Given the description of an element on the screen output the (x, y) to click on. 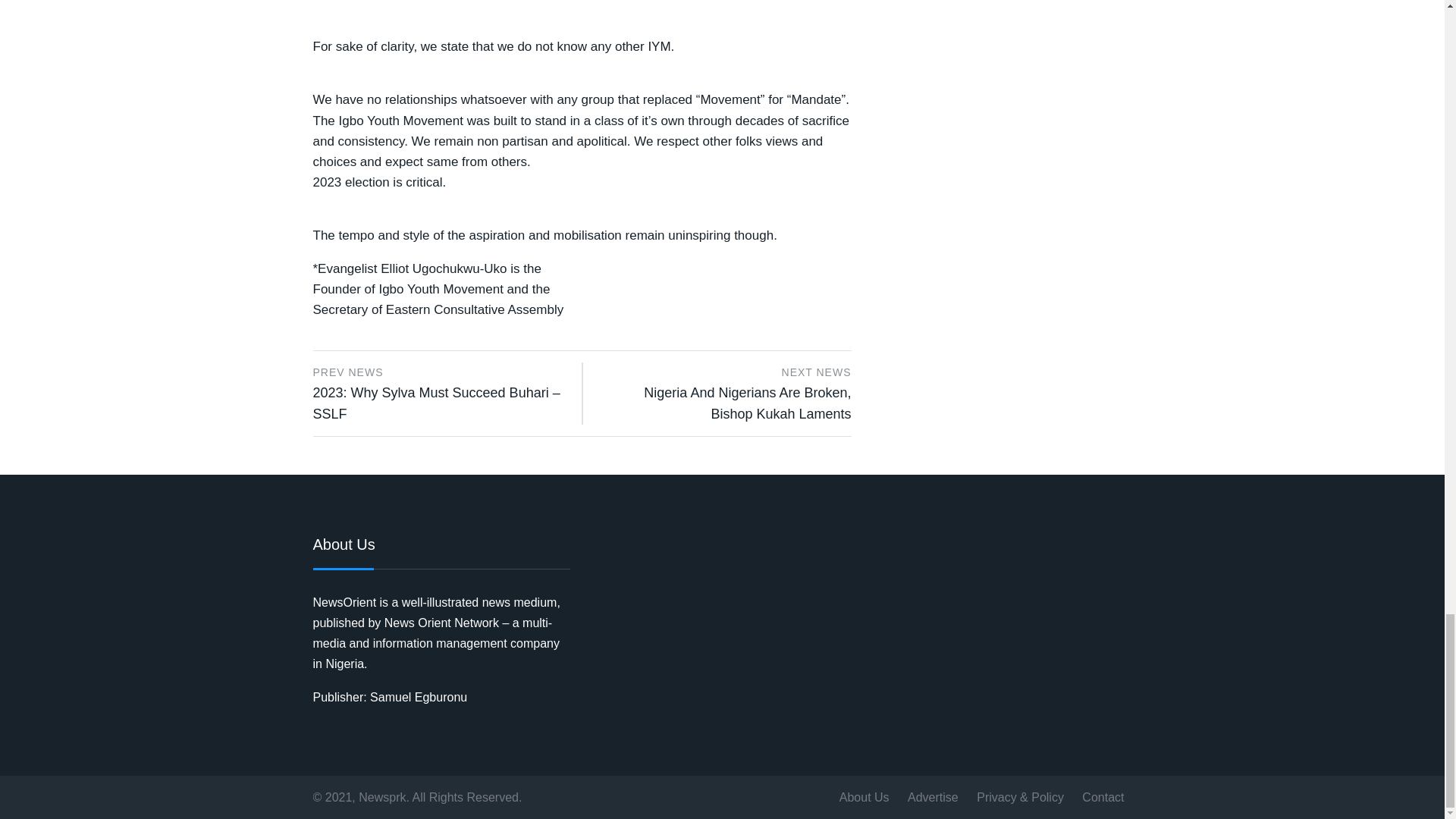
Nigeria And Nigerians Are Broken, Bishop Kukah Laments (746, 402)
About Us (863, 797)
Advertise (932, 797)
Contact (1102, 797)
